Given the description of an element on the screen output the (x, y) to click on. 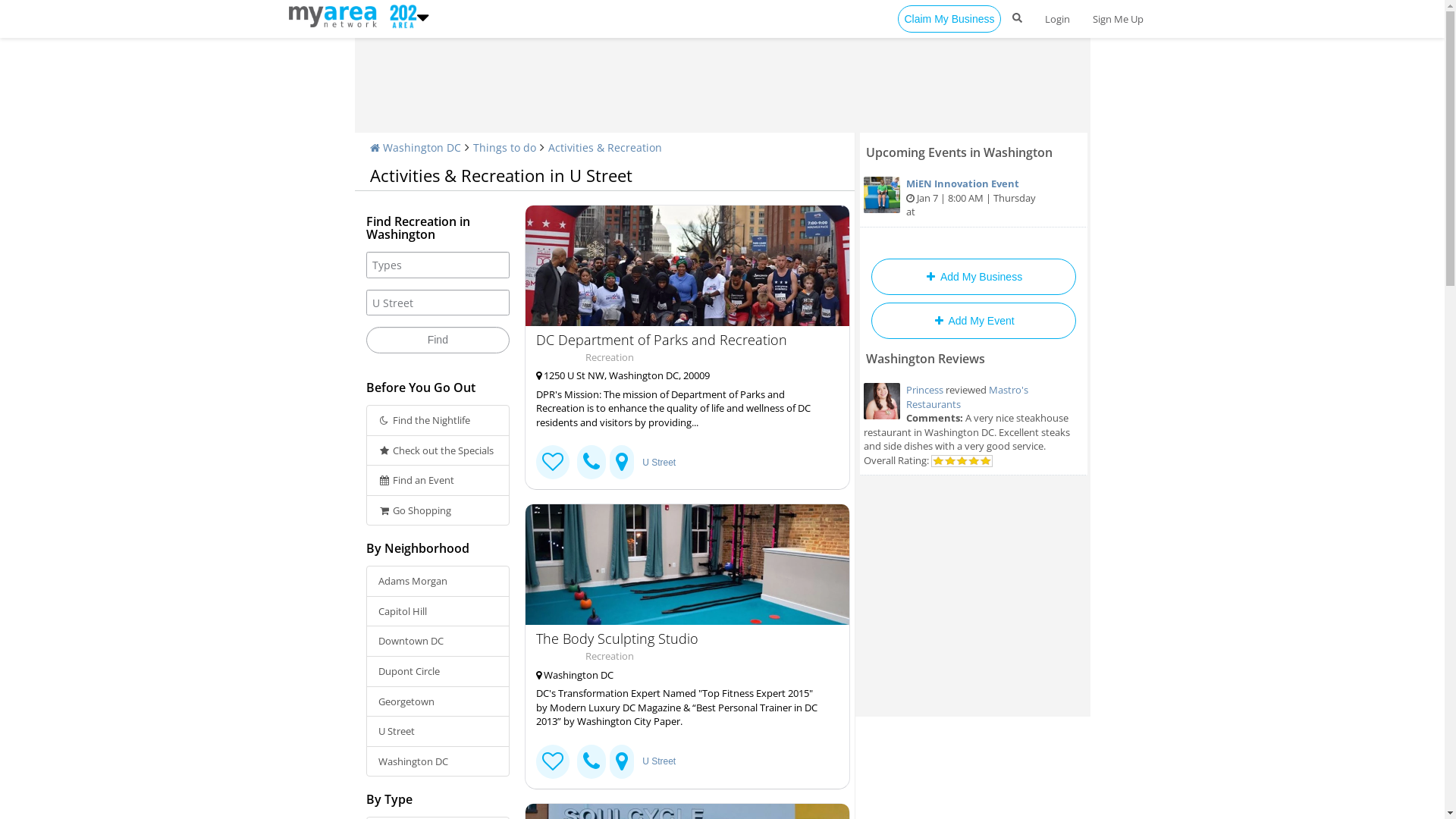
Princess Element type: text (923, 389)
Activities & Recreation Element type: text (604, 147)
MiEN Innovation Event
Jan 7 | 8:00 AM | Thursday
at Element type: text (973, 198)
https://www.202area.com Element type: hover (335, 15)
Find an Event Element type: text (437, 479)
tel:202888-7221 Element type: hover (591, 761)
Downtown DC Element type: text (437, 640)
Business Location Element type: hover (621, 462)
Adams Morgan Element type: text (437, 580)
Add My Event Element type: text (972, 320)
Capitol Hill Element type: text (437, 611)
Business Location Element type: hover (621, 761)
Washington DC Element type: text (415, 147)
Washington DC Element type: text (680, 675)
Add My Business Element type: text (972, 276)
U Street Element type: text (437, 730)
Washington DC Element type: text (437, 761)
Login Element type: text (1056, 18)
Claim My Business Element type: text (948, 18)
Upcoming Events in Washington Element type: text (959, 152)
Find the Nightlife Element type: text (437, 420)
DC Department of Parks and Recreation Element type: hover (687, 265)
U Street Element type: text (658, 761)
U Street Element type: text (658, 462)
Go Shopping Element type: text (437, 510)
The Body Sculpting Studio Element type: text (680, 638)
Washington Reviews Element type: text (925, 358)
Dupont Circle Element type: text (437, 671)
DC Department of Parks and Recreation Element type: text (680, 339)
Find Element type: text (437, 339)
Sign Me Up Element type: text (1117, 18)
Connect Element type: hover (552, 761)
Connect Element type: hover (552, 462)
Georgetown Element type: text (437, 701)
The Body Sculpting Studio Element type: hover (687, 564)
Mastro's Restaurants Element type: text (966, 396)
Things to do Element type: text (504, 147)
1250 U St NW, Washington DC, 20009 Element type: text (680, 375)
Check out the Specials Element type: text (437, 450)
https://www.202area.com Element type: hover (400, 15)
tel:202673-7647 Element type: hover (591, 462)
